Given the description of an element on the screen output the (x, y) to click on. 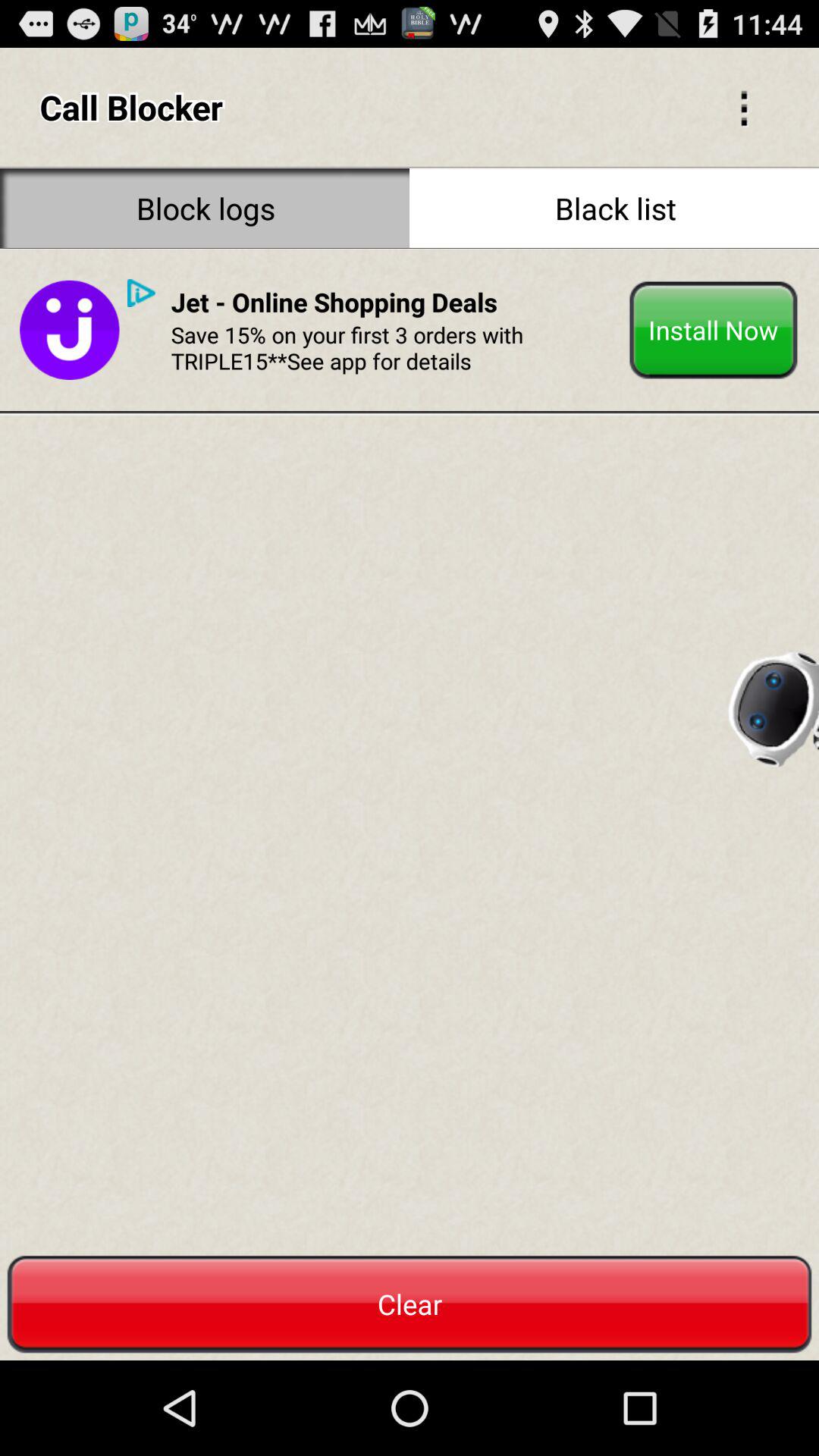
swipe to the clear icon (409, 1304)
